Given the description of an element on the screen output the (x, y) to click on. 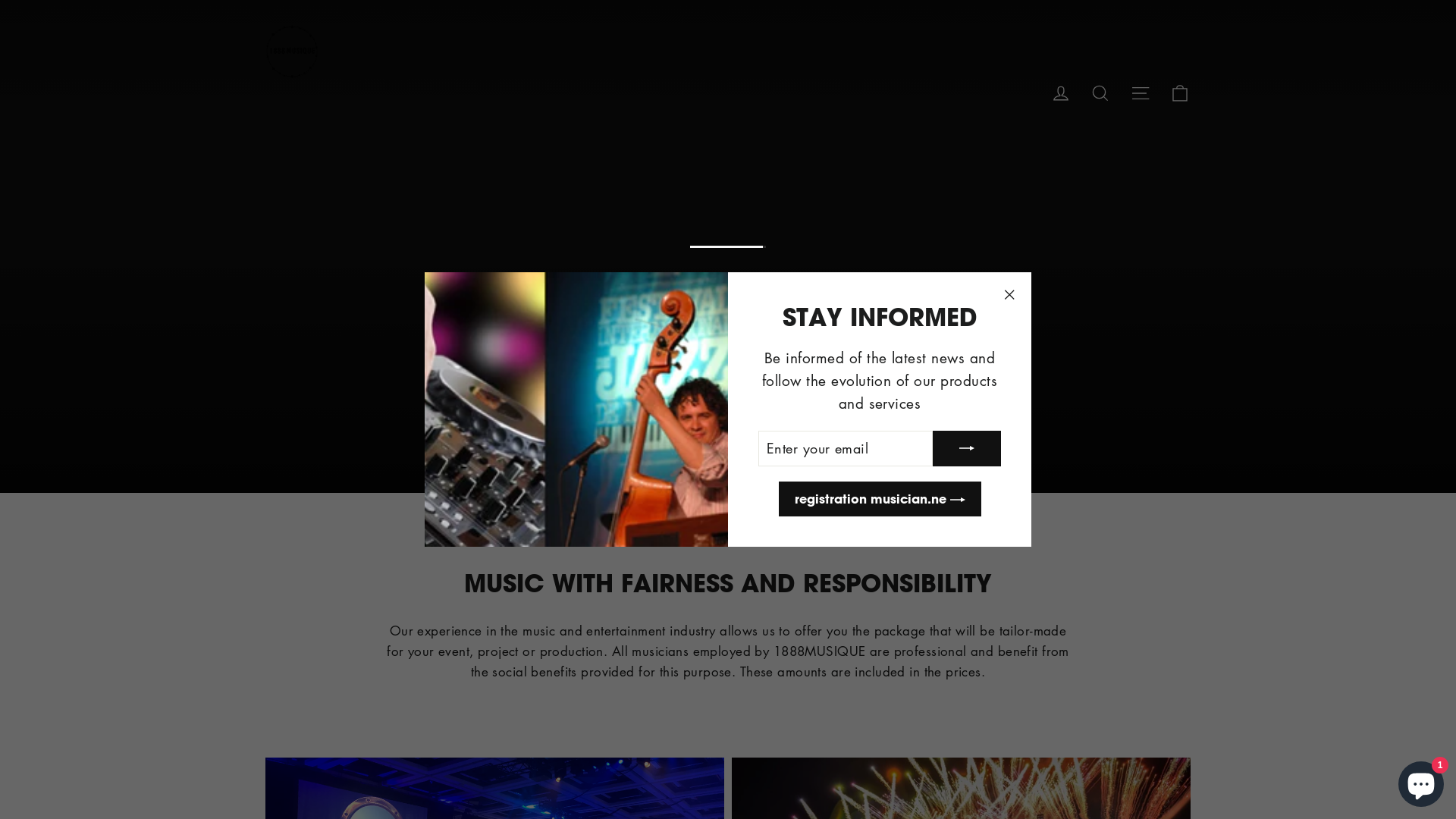
Shopify online store chat Element type: hover (1420, 780)
Search Element type: text (1100, 91)
Log in Element type: text (1060, 91)
Site navigation Element type: text (1140, 91)
Cart Element type: text (1179, 91)
registration musician.ne Element type: text (879, 499)
"Close (esc)" Element type: text (1008, 294)
